Given the description of an element on the screen output the (x, y) to click on. 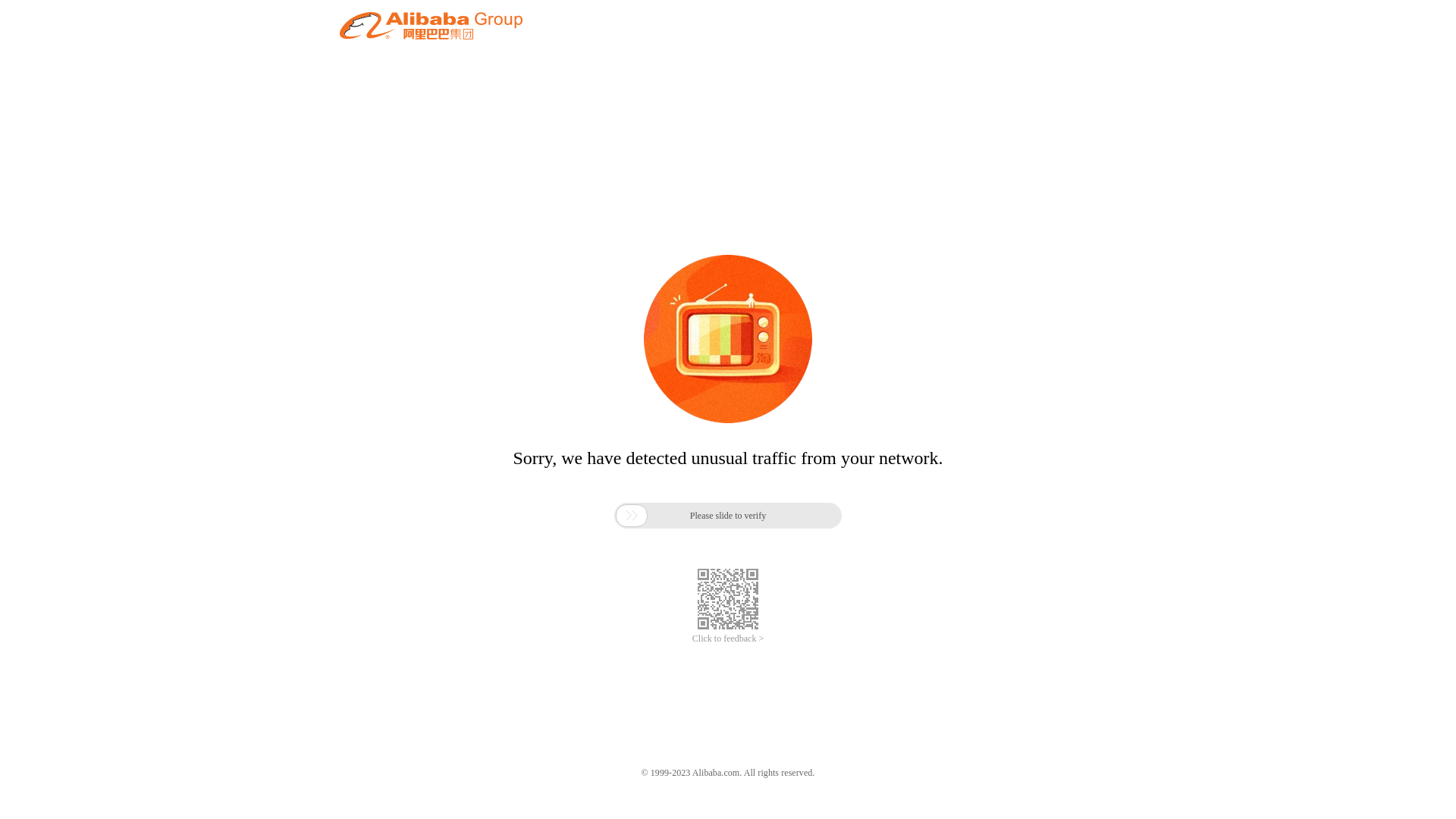
Click to feedback > Element type: text (727, 638)
